Given the description of an element on the screen output the (x, y) to click on. 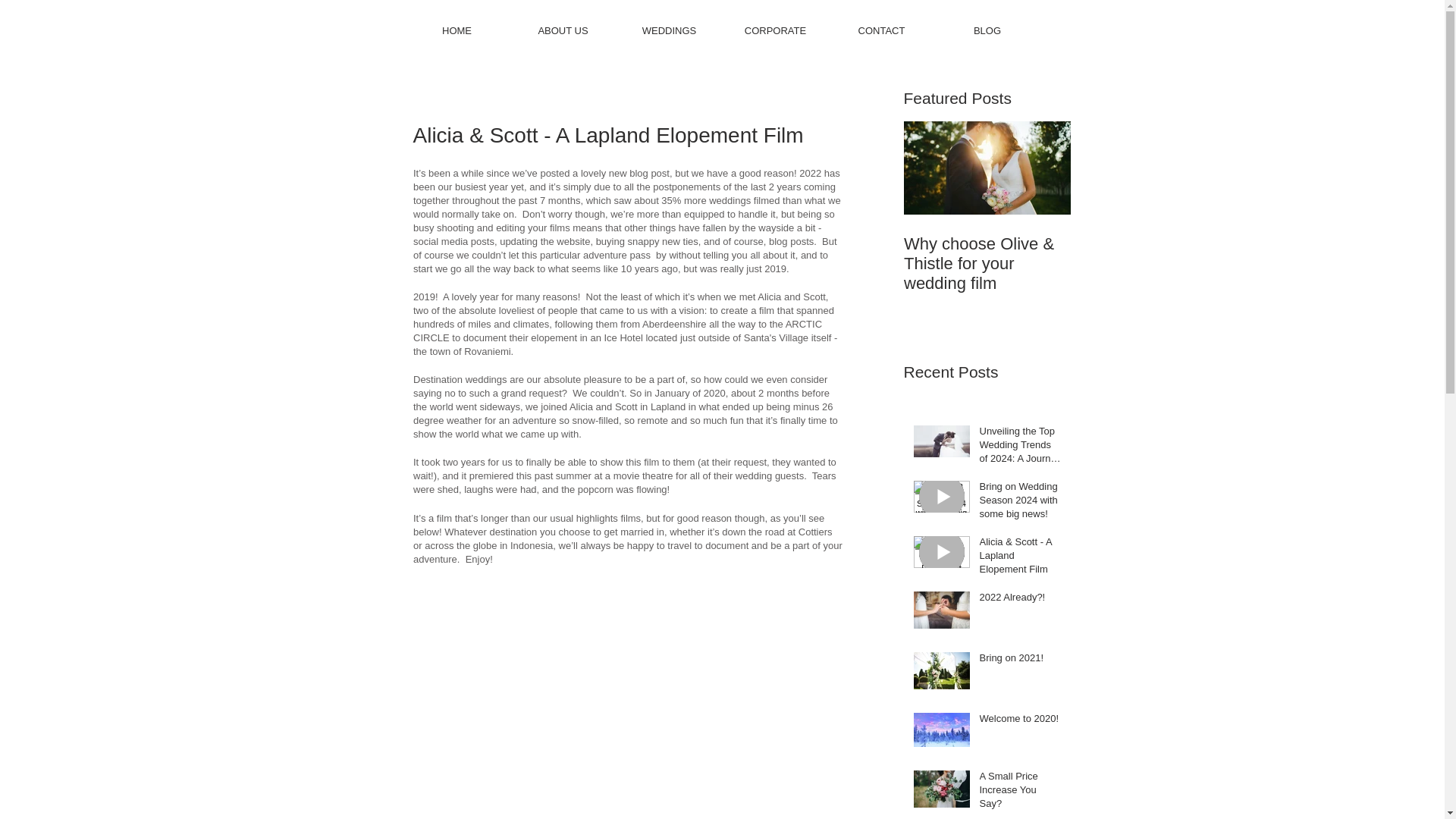
A Small Price Increase You Say? (1020, 793)
HOME (456, 30)
Bring on Wedding Season 2024 with some big news! (1020, 503)
ABOUT US (562, 30)
CONTACT (881, 30)
Welcome to 2020! (1020, 721)
2022 Already?! (1020, 600)
BLOG (987, 30)
CORPORATE (775, 30)
WEDDINGS (669, 30)
Bring on 2021! (1020, 660)
